Given the description of an element on the screen output the (x, y) to click on. 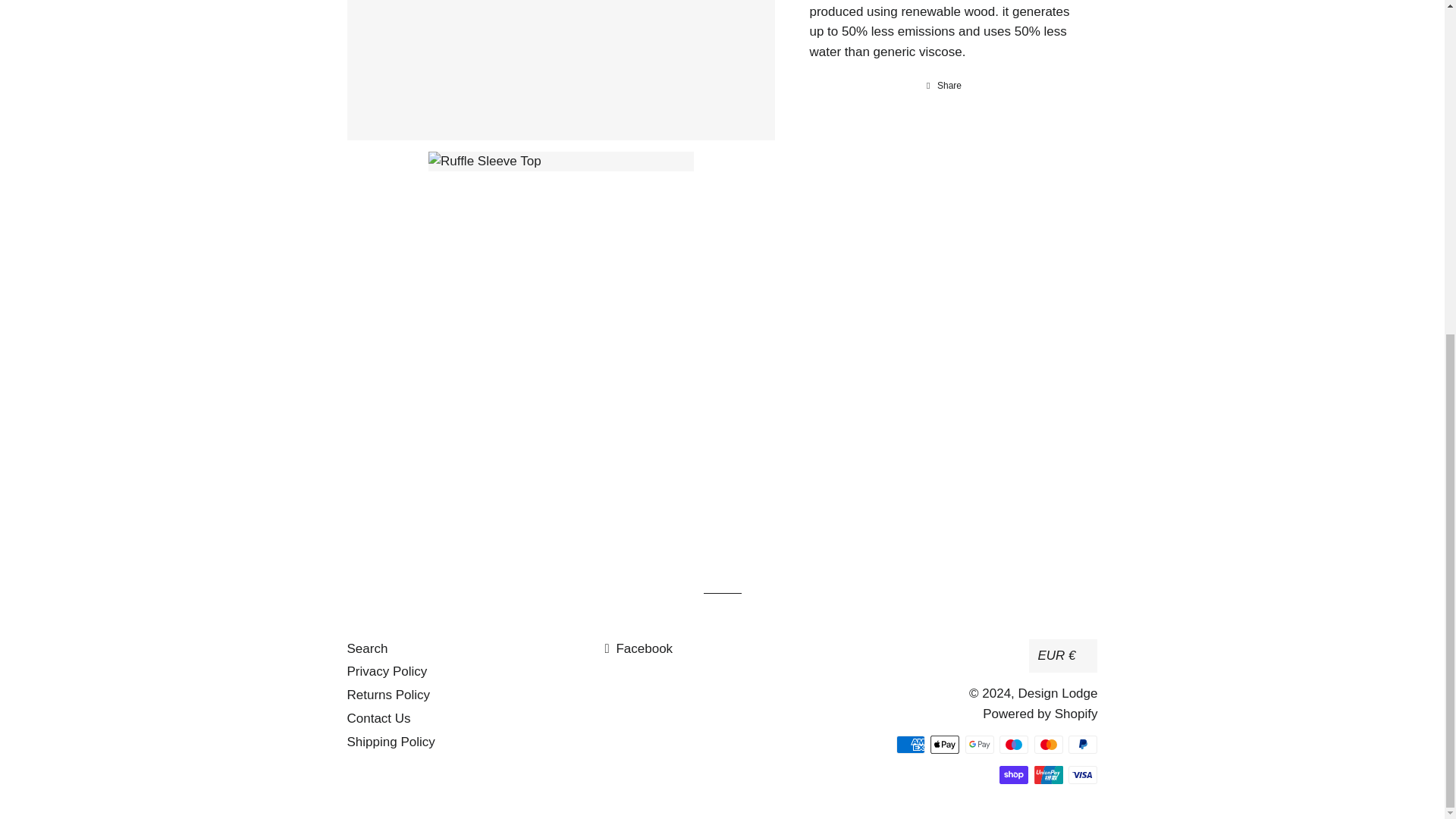
PayPal (1082, 744)
Design Lodge  on Facebook (638, 648)
Shop Pay (1012, 774)
American Express (910, 744)
Share on Facebook (943, 85)
Visa (1082, 774)
Mastercard (1047, 744)
Apple Pay (944, 744)
Google Pay (979, 744)
Maestro (1012, 744)
